Given the description of an element on the screen output the (x, y) to click on. 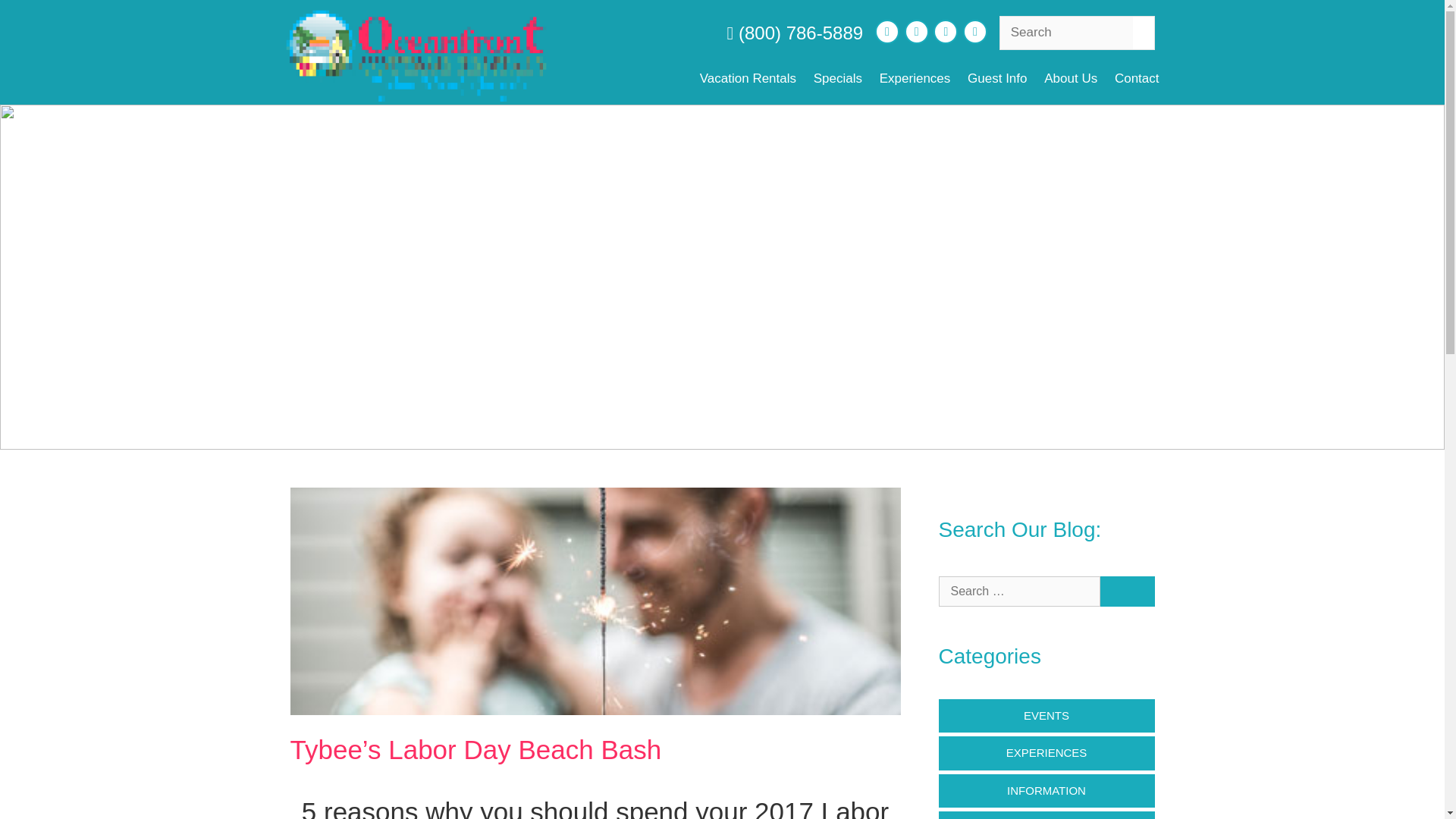
Specials (837, 78)
Vacation Rentals (748, 78)
Experiences (915, 78)
Ocean Front Cottage (415, 52)
